Given the description of an element on the screen output the (x, y) to click on. 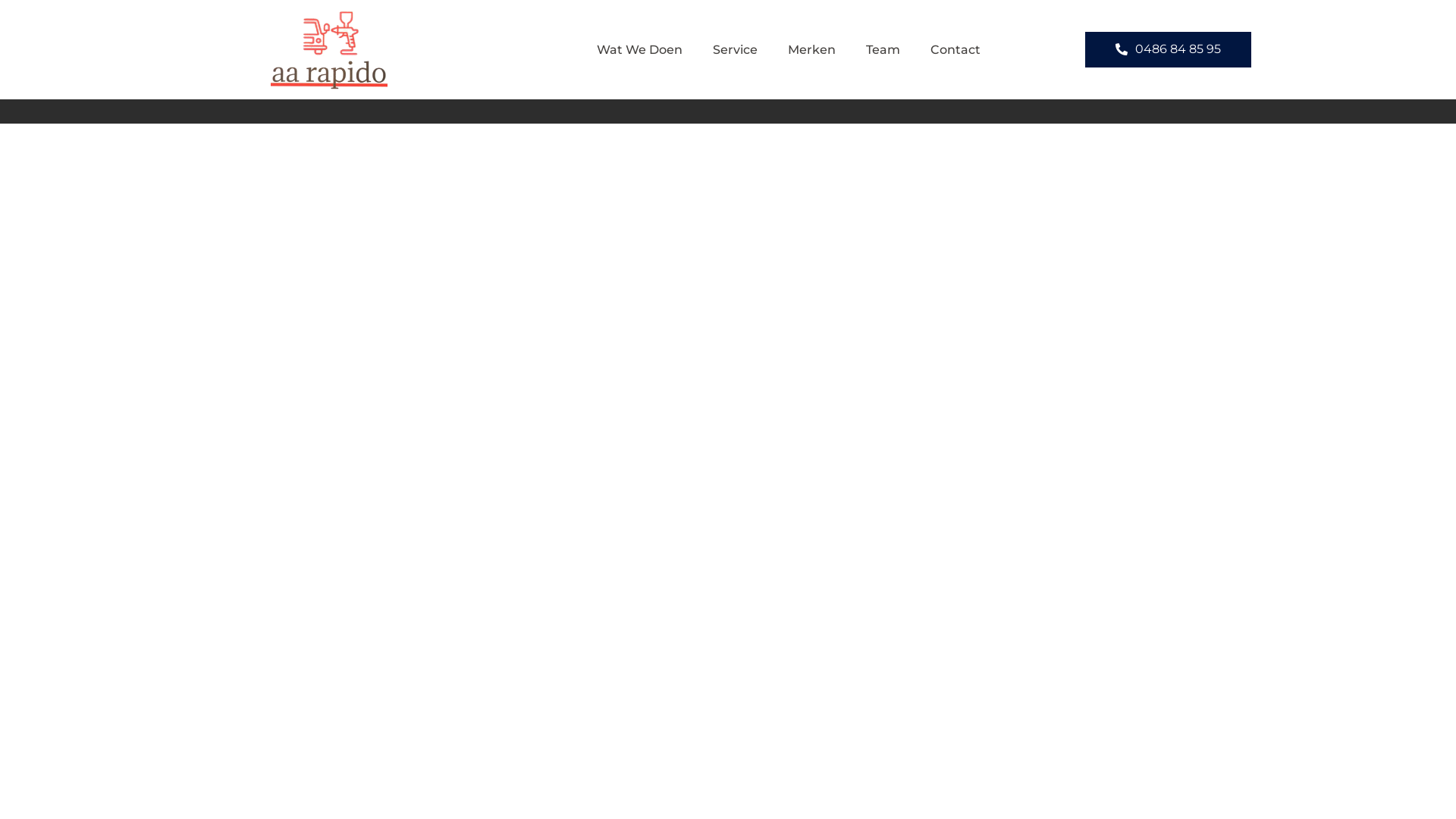
0486 84 85 95 Element type: text (1168, 49)
Made with love by The Baby Cries Element type: text (374, 89)
Merken Element type: text (811, 49)
Service Element type: text (734, 49)
Team Element type: text (882, 49)
Contact Element type: text (955, 49)
Wat We Doen Element type: text (639, 49)
hello@aa-rapido.be Element type: text (1111, 89)
